Given the description of an element on the screen output the (x, y) to click on. 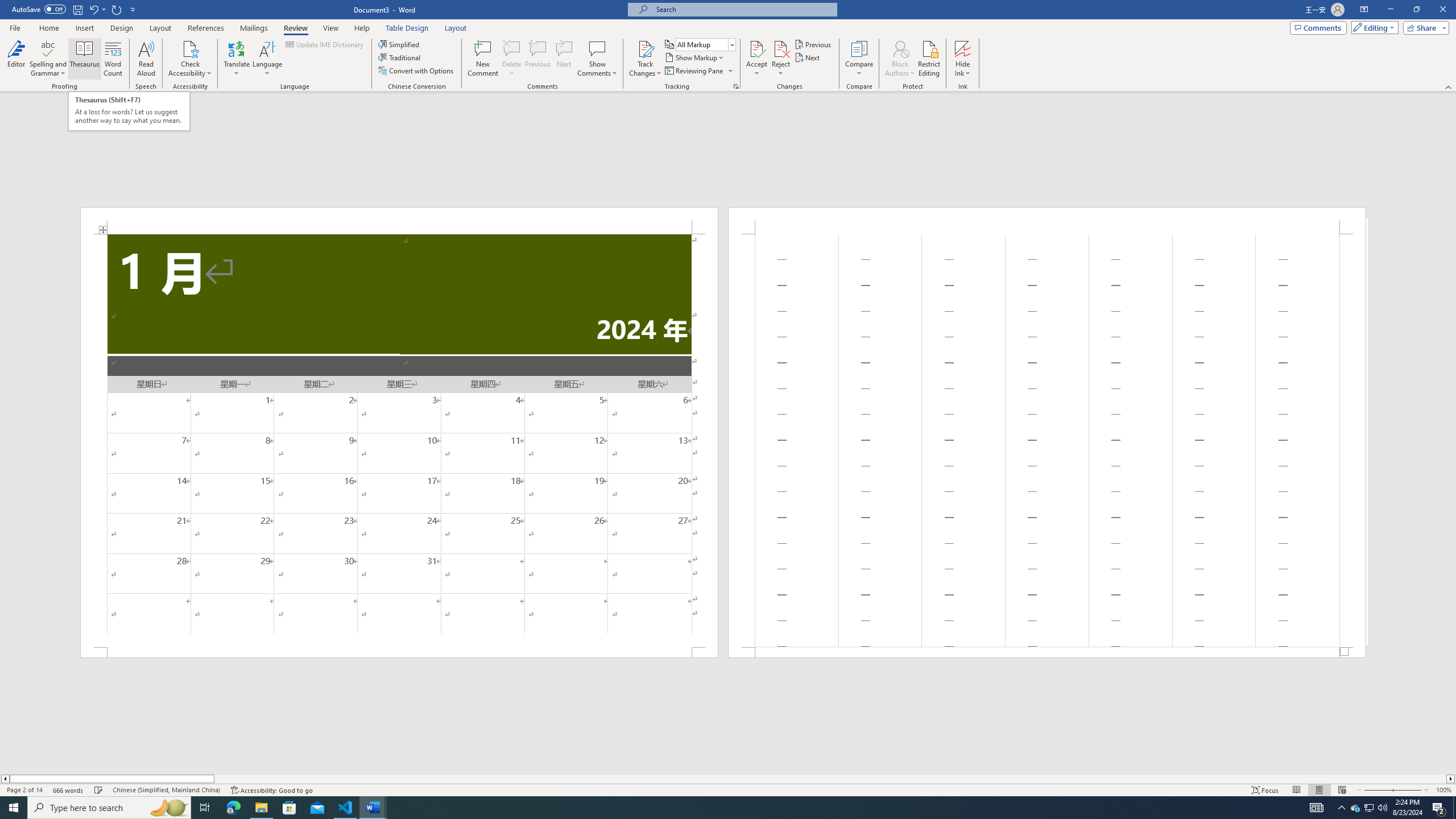
Hide Ink (962, 58)
Page right (829, 778)
Translate (236, 58)
Column right (1450, 778)
Block Authors (900, 58)
Show Comments (597, 58)
Reject (780, 58)
